Given the description of an element on the screen output the (x, y) to click on. 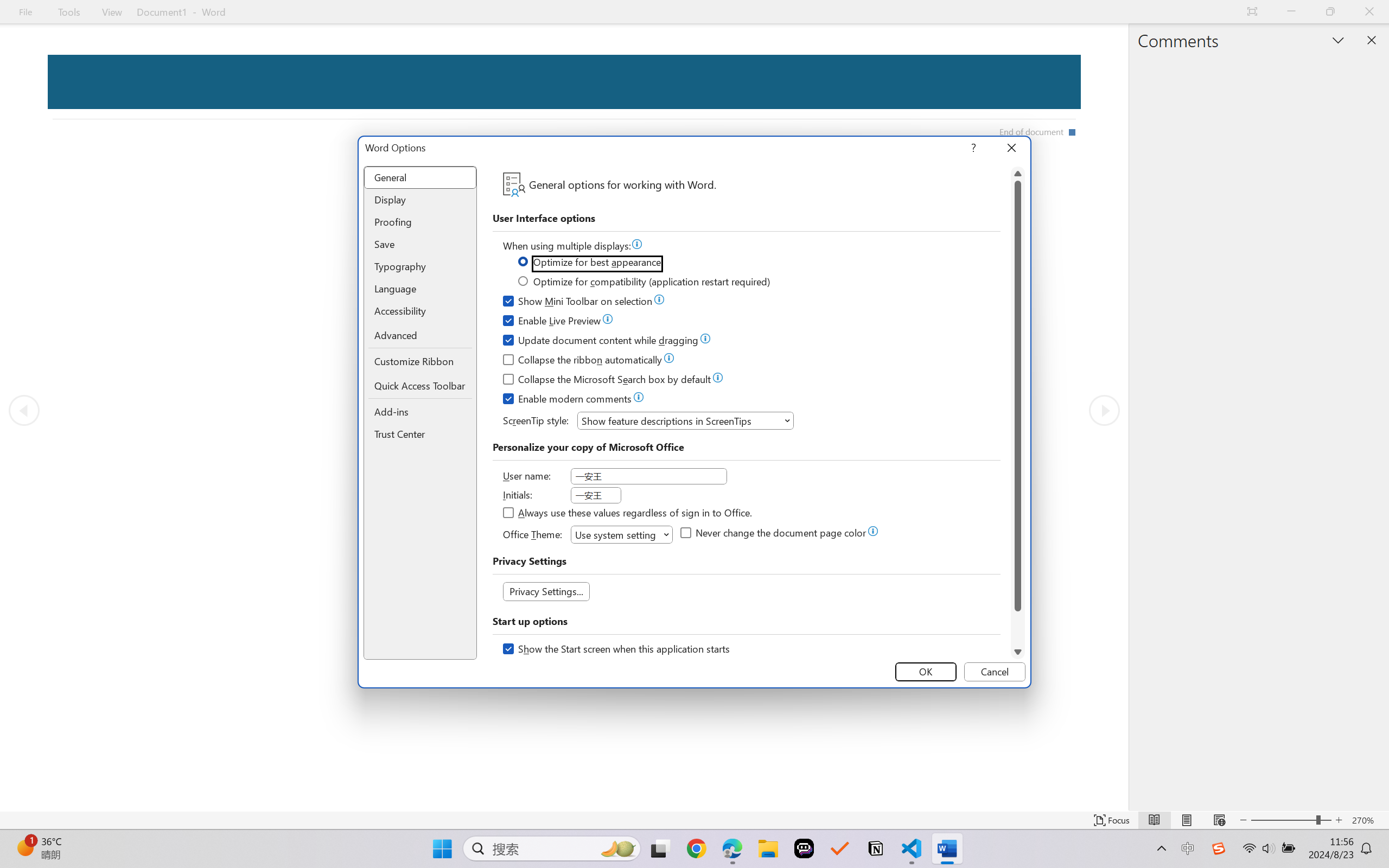
Page down (1018, 627)
Never change the document page color (774, 534)
Language (419, 288)
ScreenTip style (685, 420)
